Given the description of an element on the screen output the (x, y) to click on. 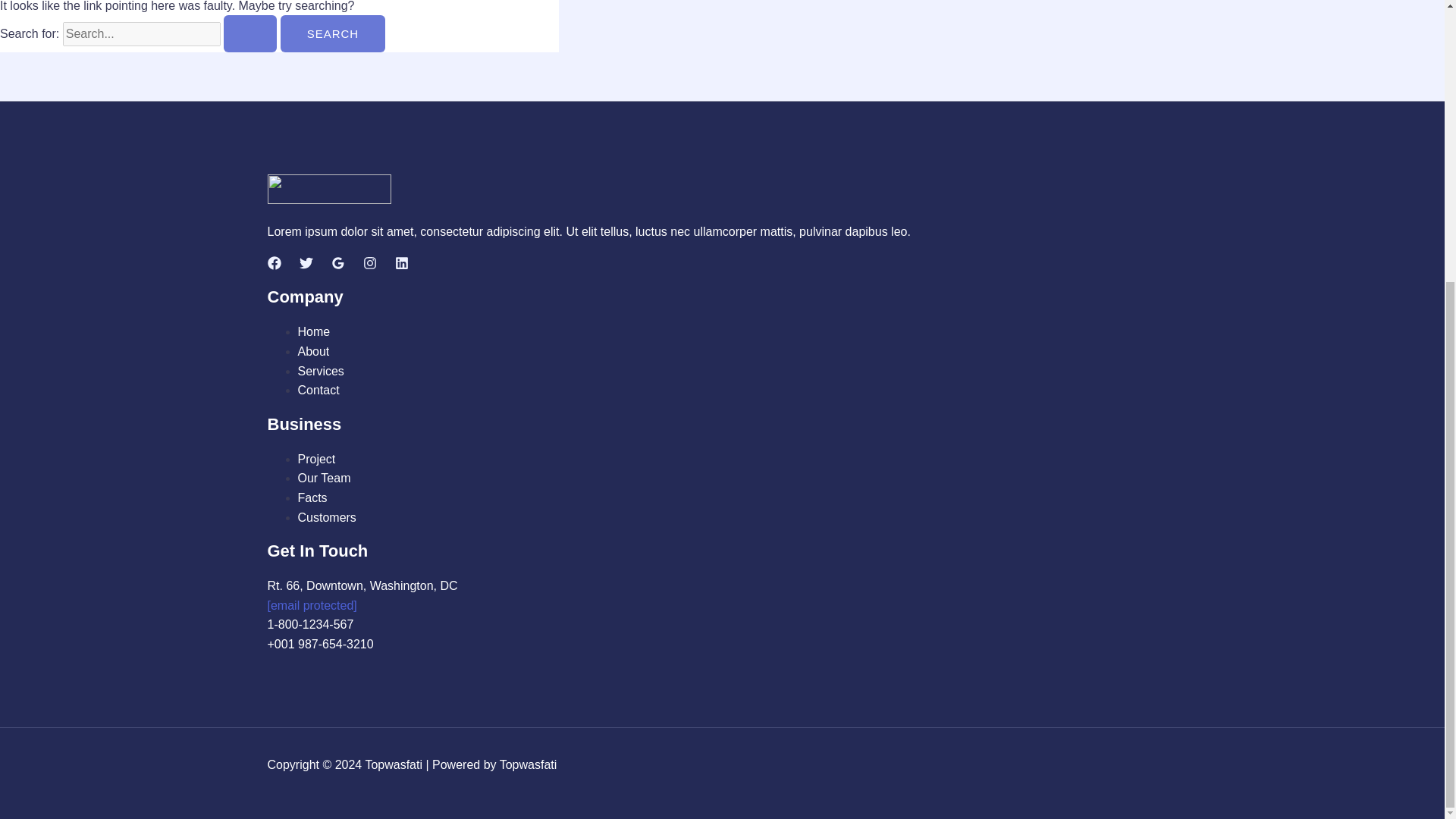
Search (333, 33)
Search (333, 33)
Facts (311, 497)
Google Reviews (336, 263)
Services (320, 370)
Home (313, 331)
Project (315, 459)
Google Reviews (336, 265)
Contact (318, 390)
About (313, 350)
